Given the description of an element on the screen output the (x, y) to click on. 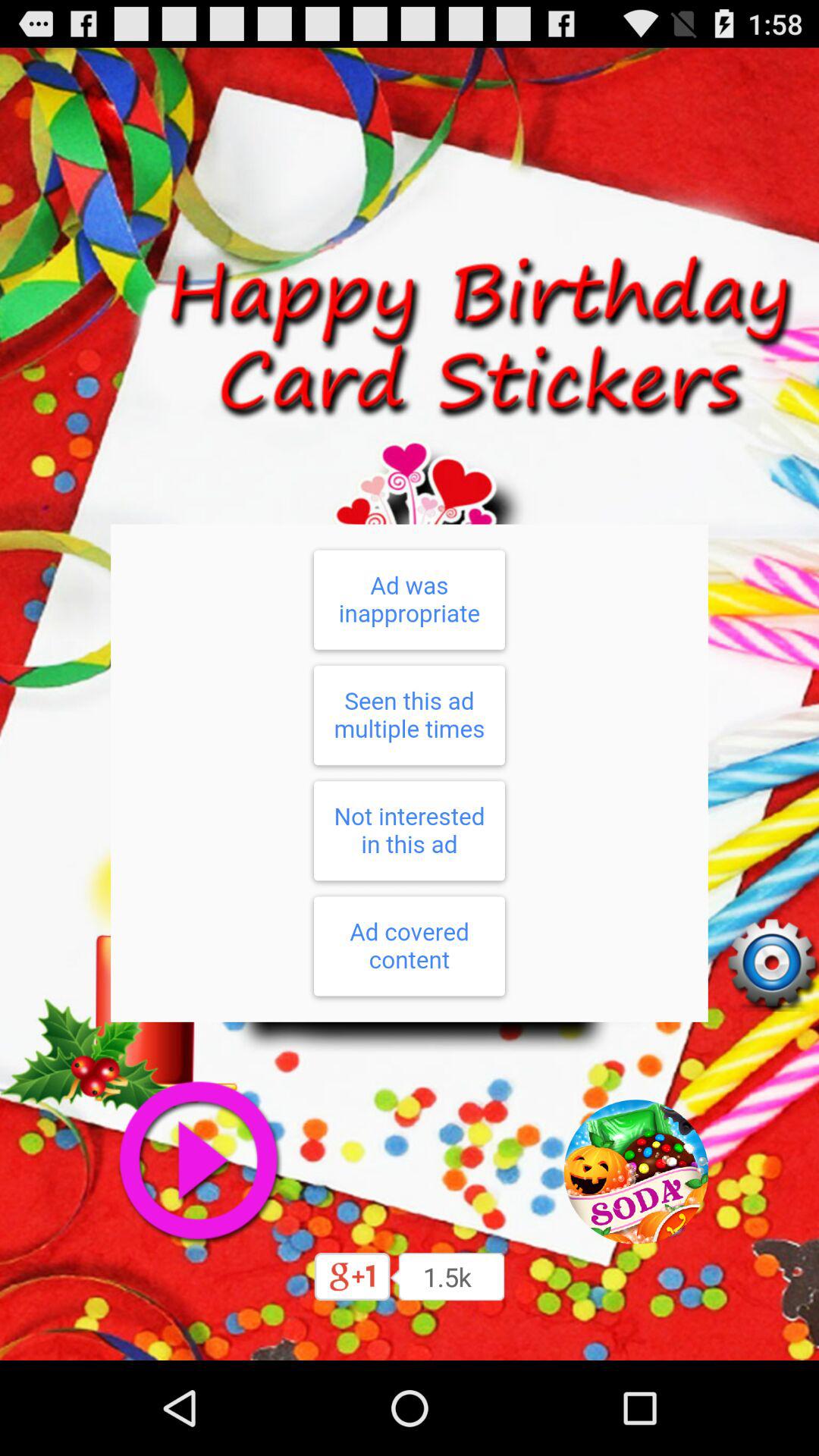
go to settings (771, 963)
